Given the description of an element on the screen output the (x, y) to click on. 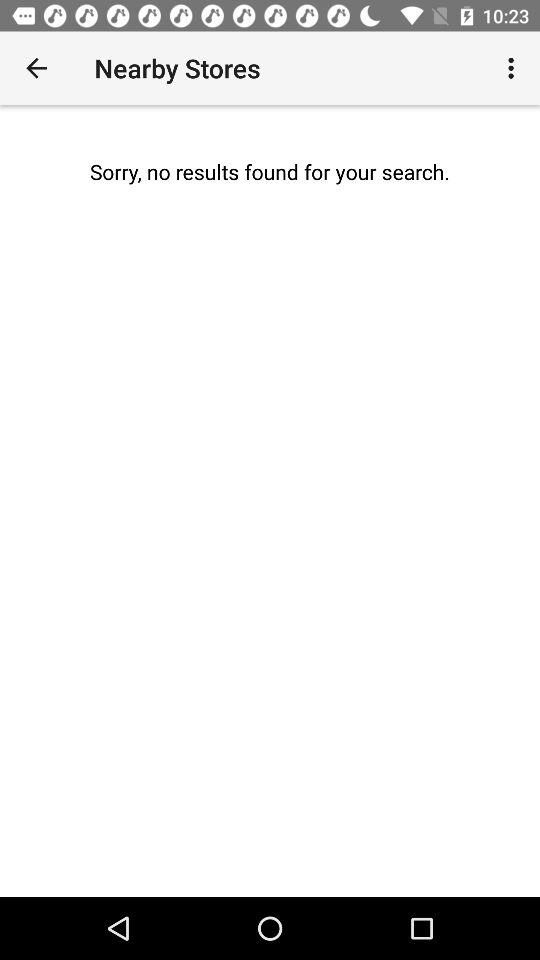
turn on item next to nearby stores (36, 68)
